Given the description of an element on the screen output the (x, y) to click on. 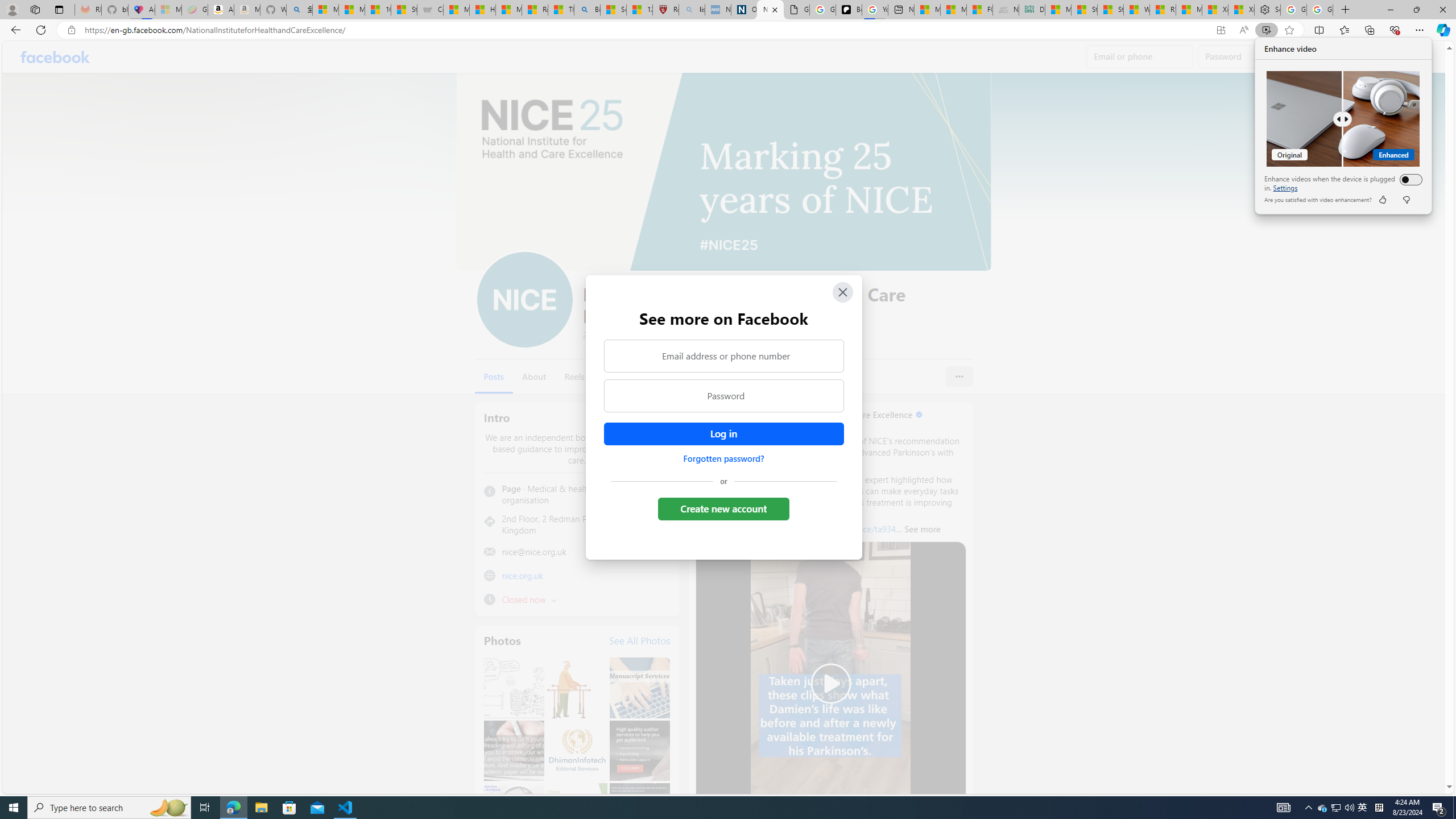
Type here to search (108, 807)
dislike (1405, 199)
12 Popular Science Lies that Must be Corrected (639, 9)
Settings (1284, 187)
Notification Chevron (1308, 807)
Back (13, 29)
Refresh (40, 29)
FOX News - MSN (979, 9)
R******* | Trusted Community Engagement and Contributions (1162, 9)
Show desktop (1454, 807)
How I Got Rid of Microsoft Edge's Unnecessary Features (482, 9)
App available. Install Facebook (1220, 29)
